Given the description of an element on the screen output the (x, y) to click on. 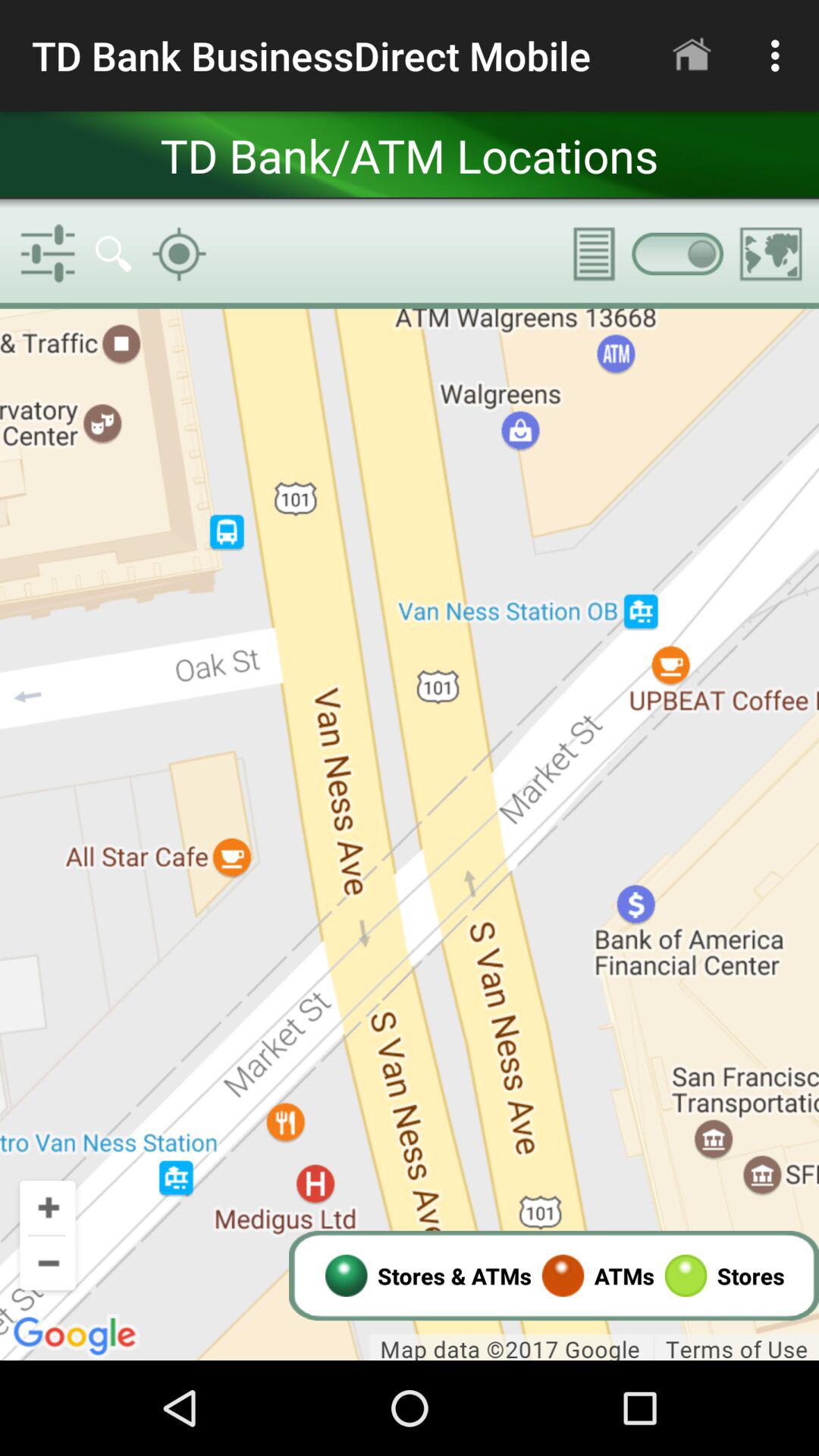
click on home icon (691, 55)
click the search button (113, 253)
select the third icon which is at the top left (178, 253)
click on the toggle button which is at the right top corner (677, 253)
select more option which is on the top right corner of the page (779, 55)
